Given the description of an element on the screen output the (x, y) to click on. 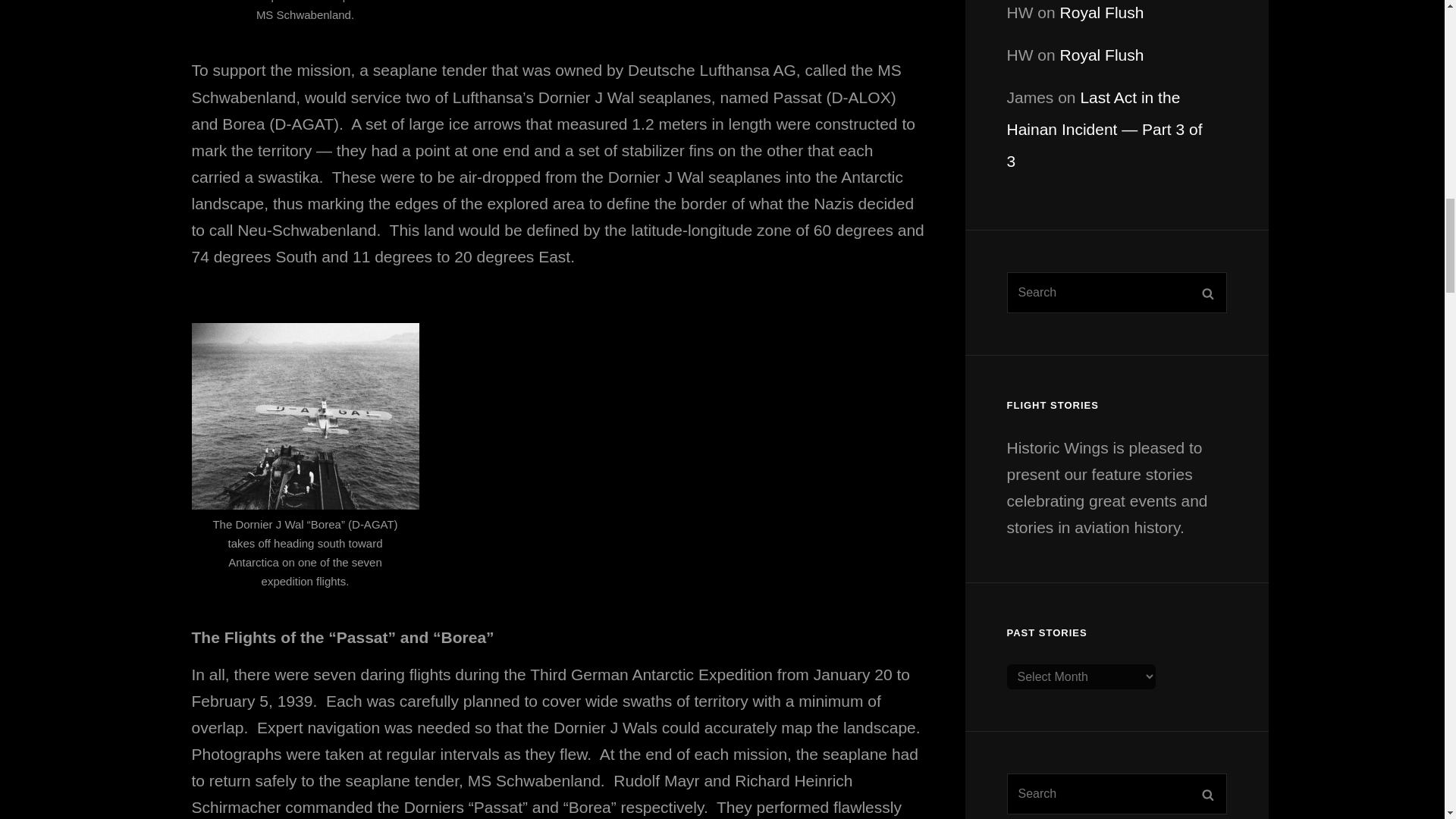
HighFlight-Neu-Schwabenland2 (304, 415)
